Given the description of an element on the screen output the (x, y) to click on. 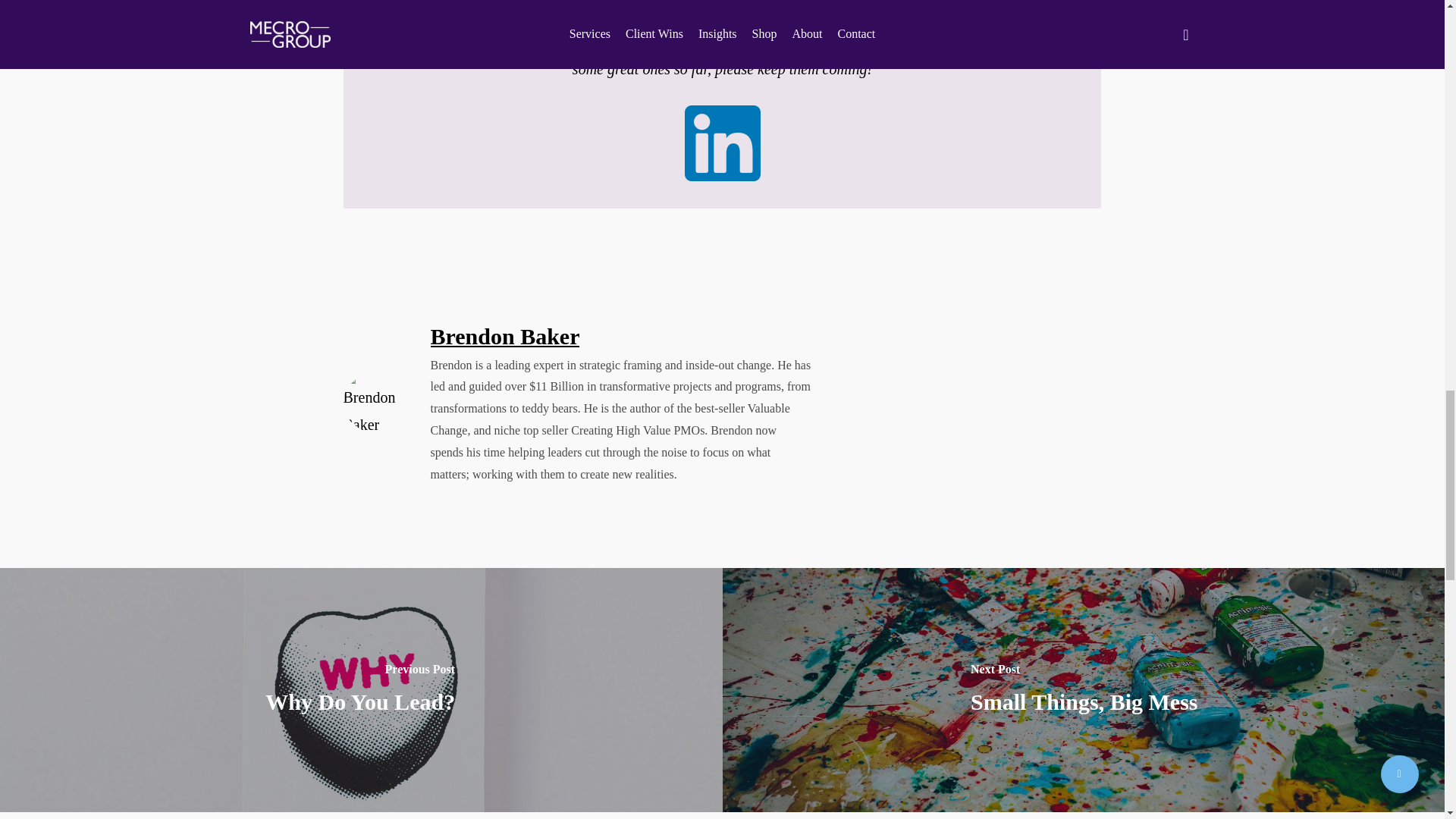
Brendon Baker (504, 335)
